Given the description of an element on the screen output the (x, y) to click on. 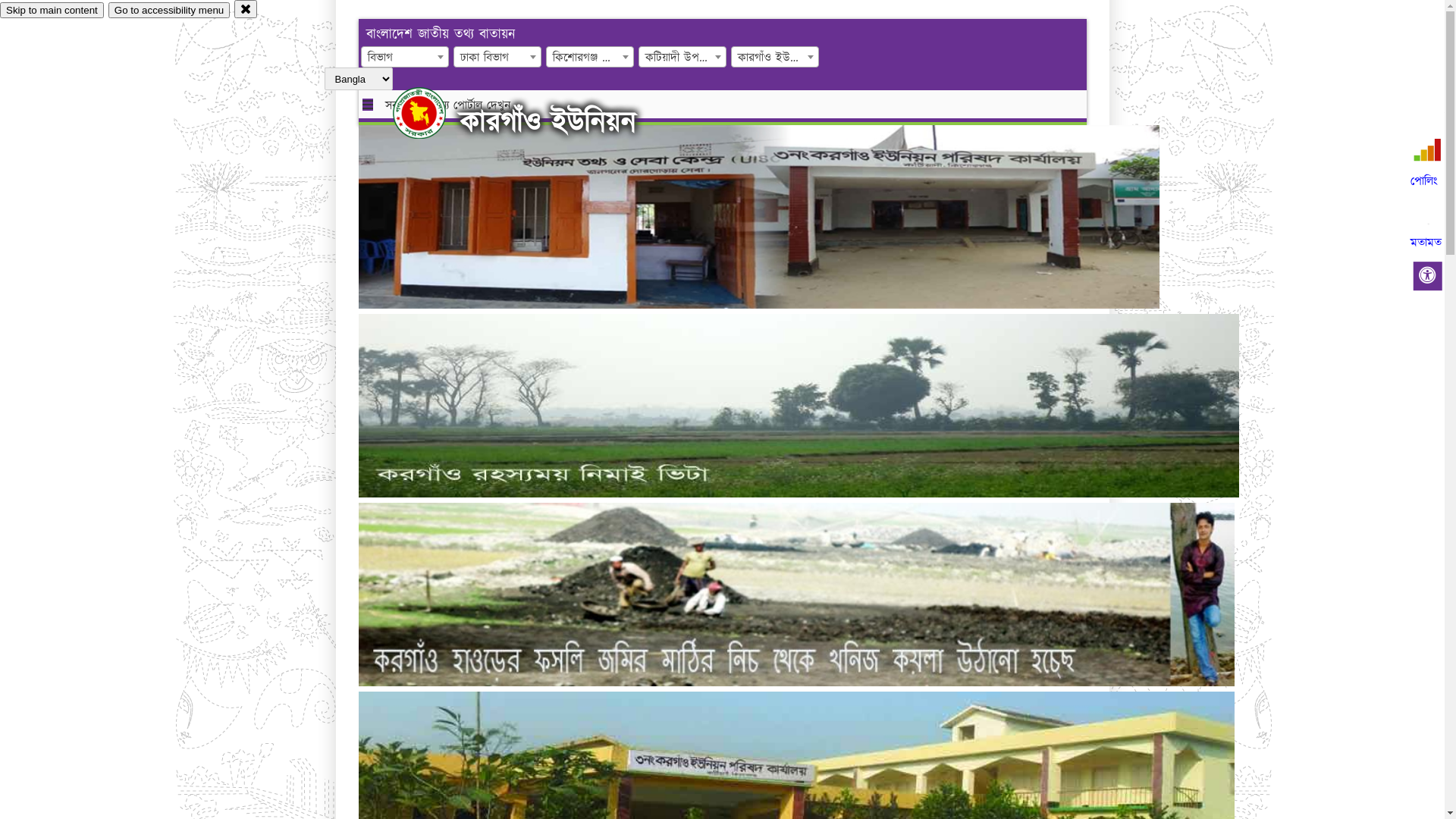
Go to accessibility menu Element type: text (168, 10)
Skip to main content Element type: text (51, 10)

                
             Element type: hover (431, 112)
close Element type: hover (245, 9)
